Given the description of an element on the screen output the (x, y) to click on. 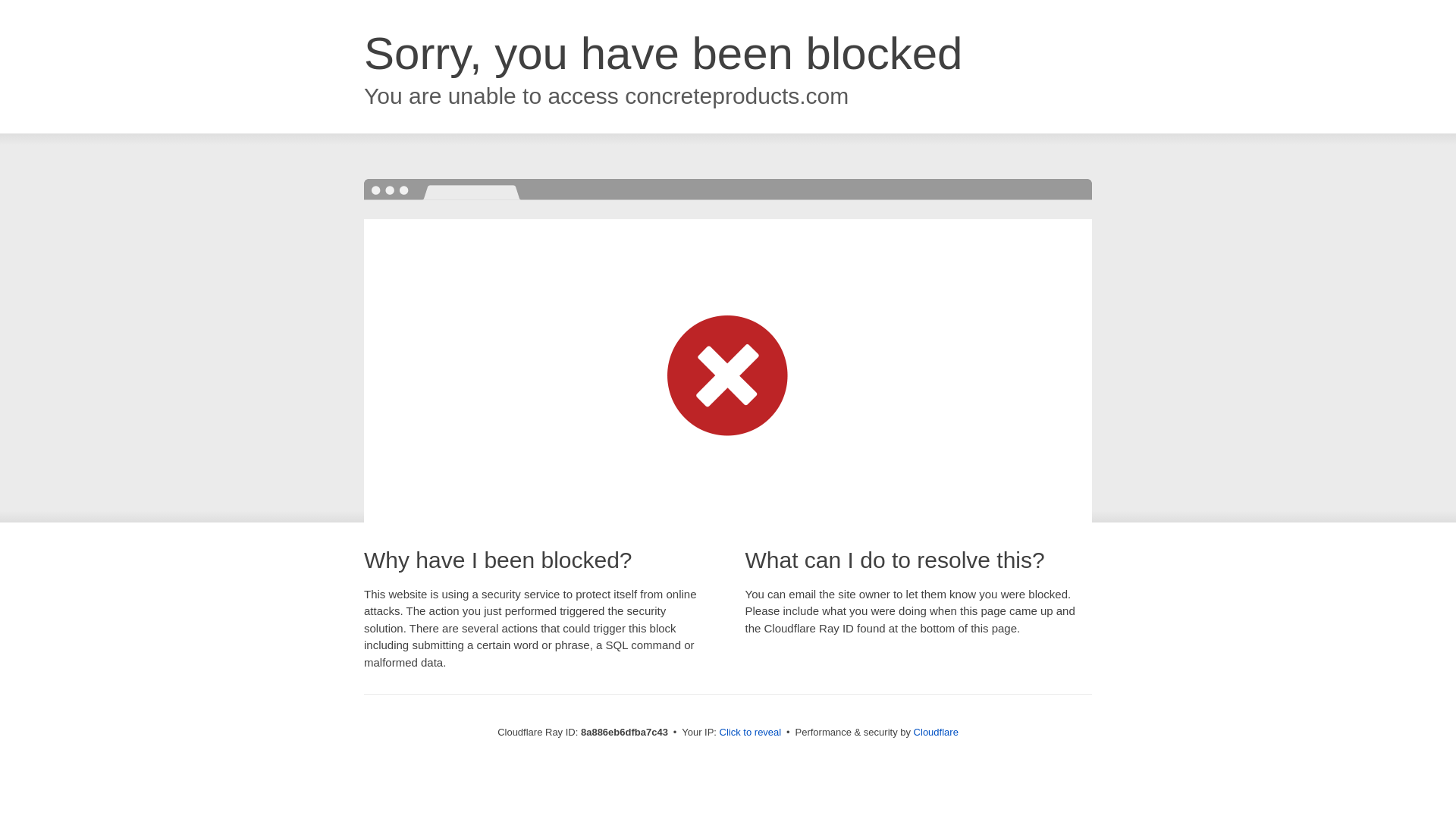
Cloudflare (936, 731)
Click to reveal (750, 732)
